Given the description of an element on the screen output the (x, y) to click on. 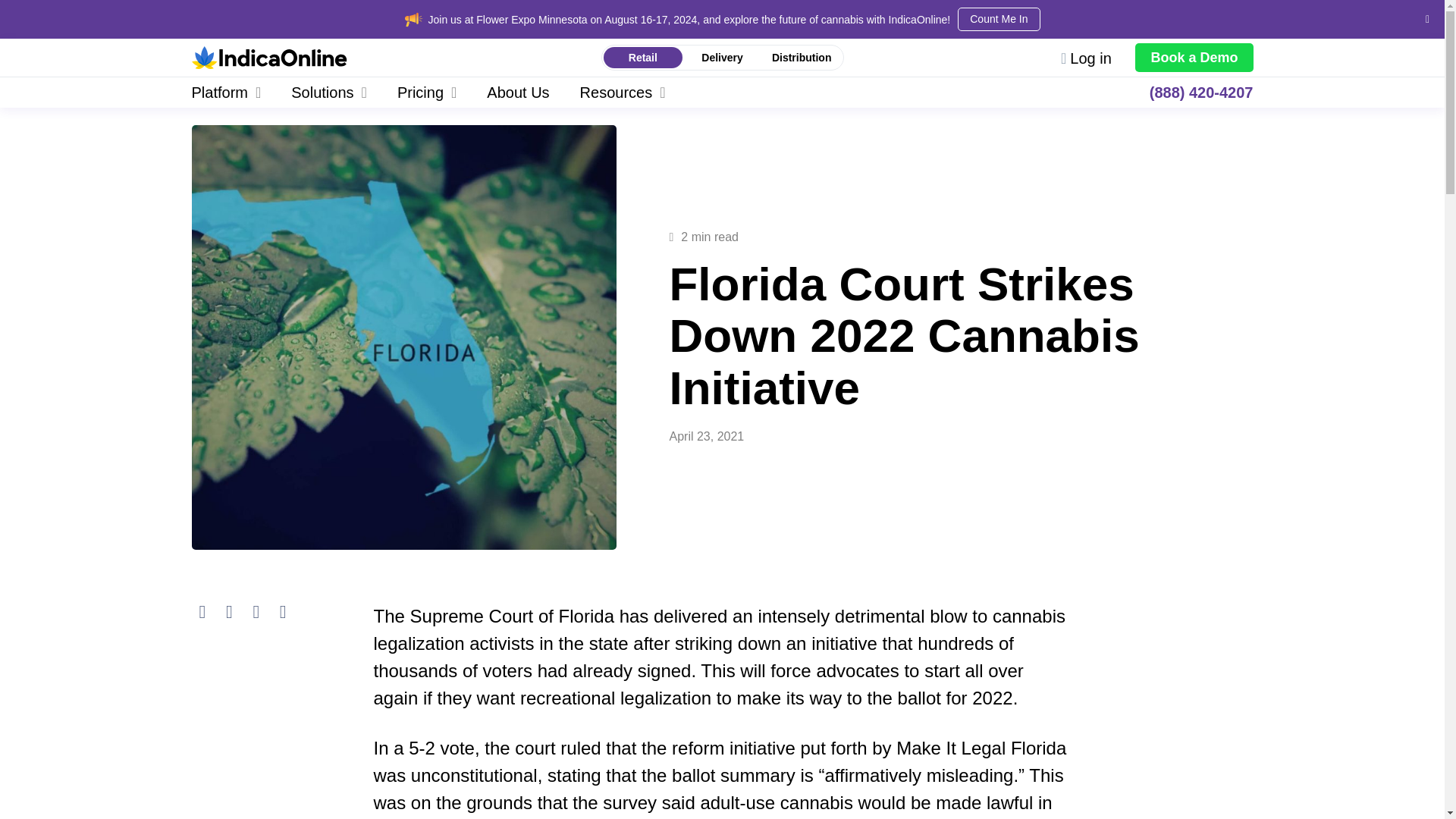
Delivery (721, 57)
About Us (517, 91)
Book a Demo (1193, 57)
Log in (1086, 57)
Count Me In (998, 19)
Distribution (801, 57)
Pricing (426, 91)
Solutions (328, 91)
Retail (643, 57)
Platform (233, 91)
